Given the description of an element on the screen output the (x, y) to click on. 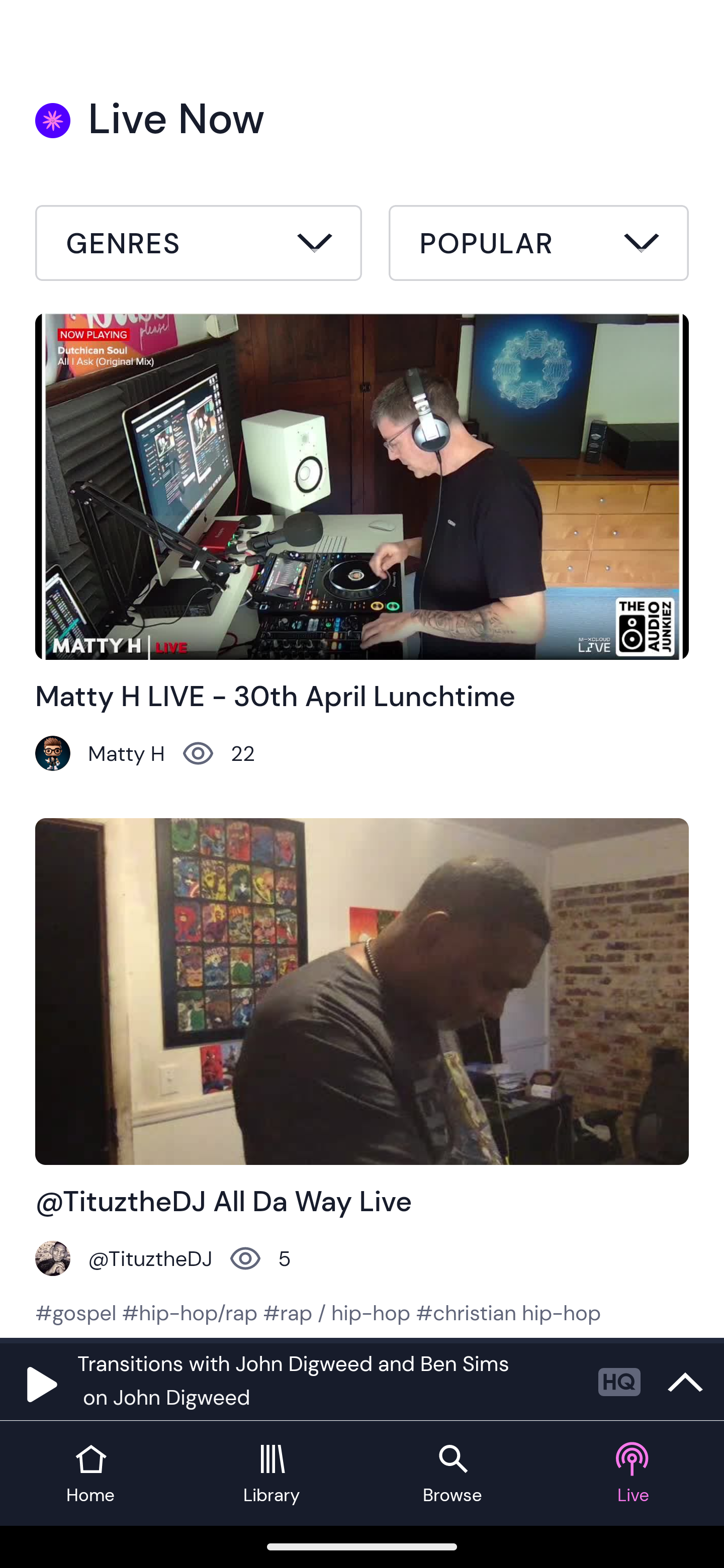
Filter by button All (198, 245)
Sort by button Popular (538, 245)
Home tab Home (90, 1473)
Library tab Library (271, 1473)
Browse tab Browse (452, 1473)
Live tab Live (633, 1473)
